Given the description of an element on the screen output the (x, y) to click on. 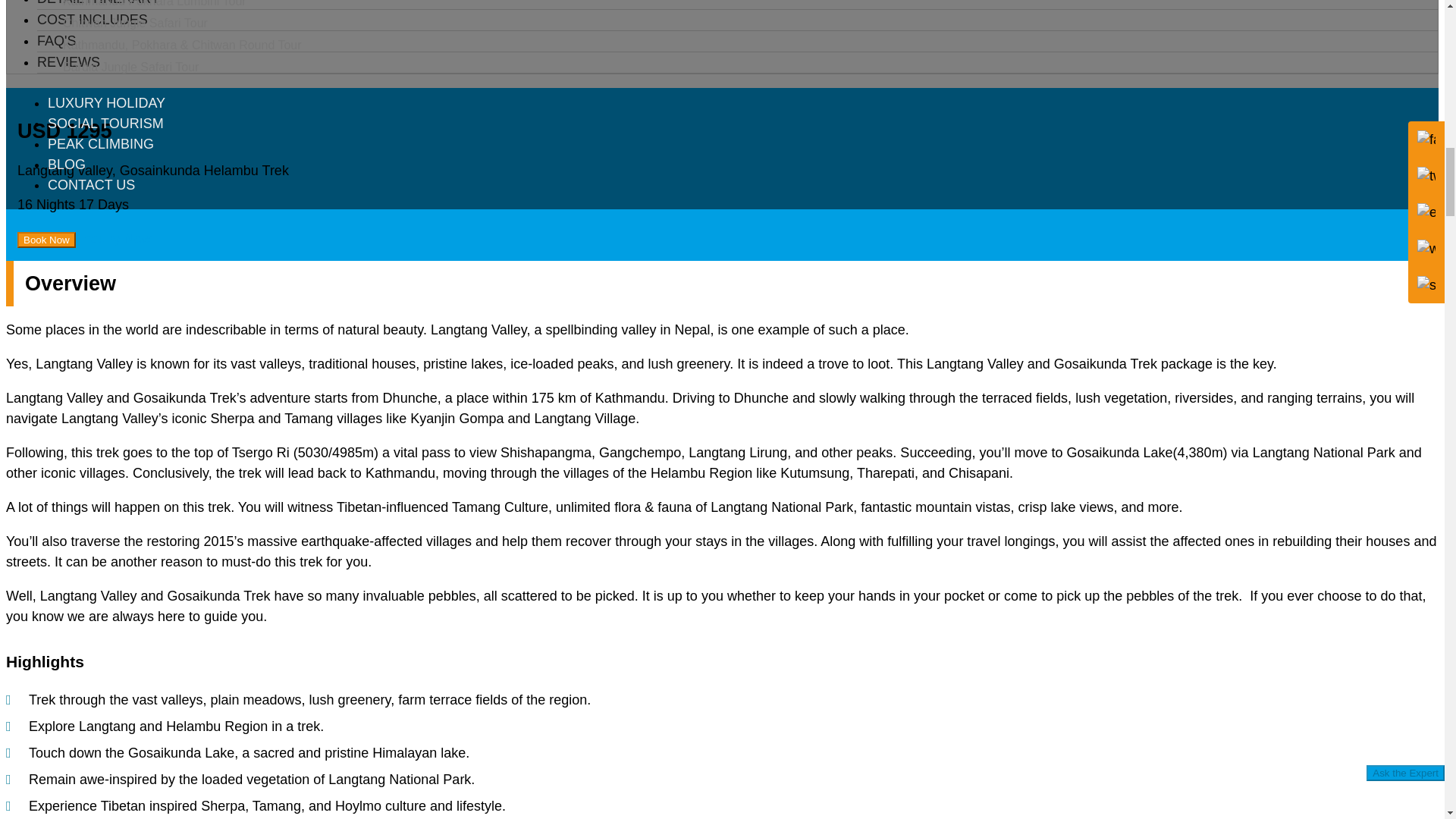
Inquiry (115, 238)
Social Tourism (105, 123)
Luxury Holiday (106, 102)
Contact us (91, 184)
Peak Climbing (101, 143)
Blog (66, 164)
